Given the description of an element on the screen output the (x, y) to click on. 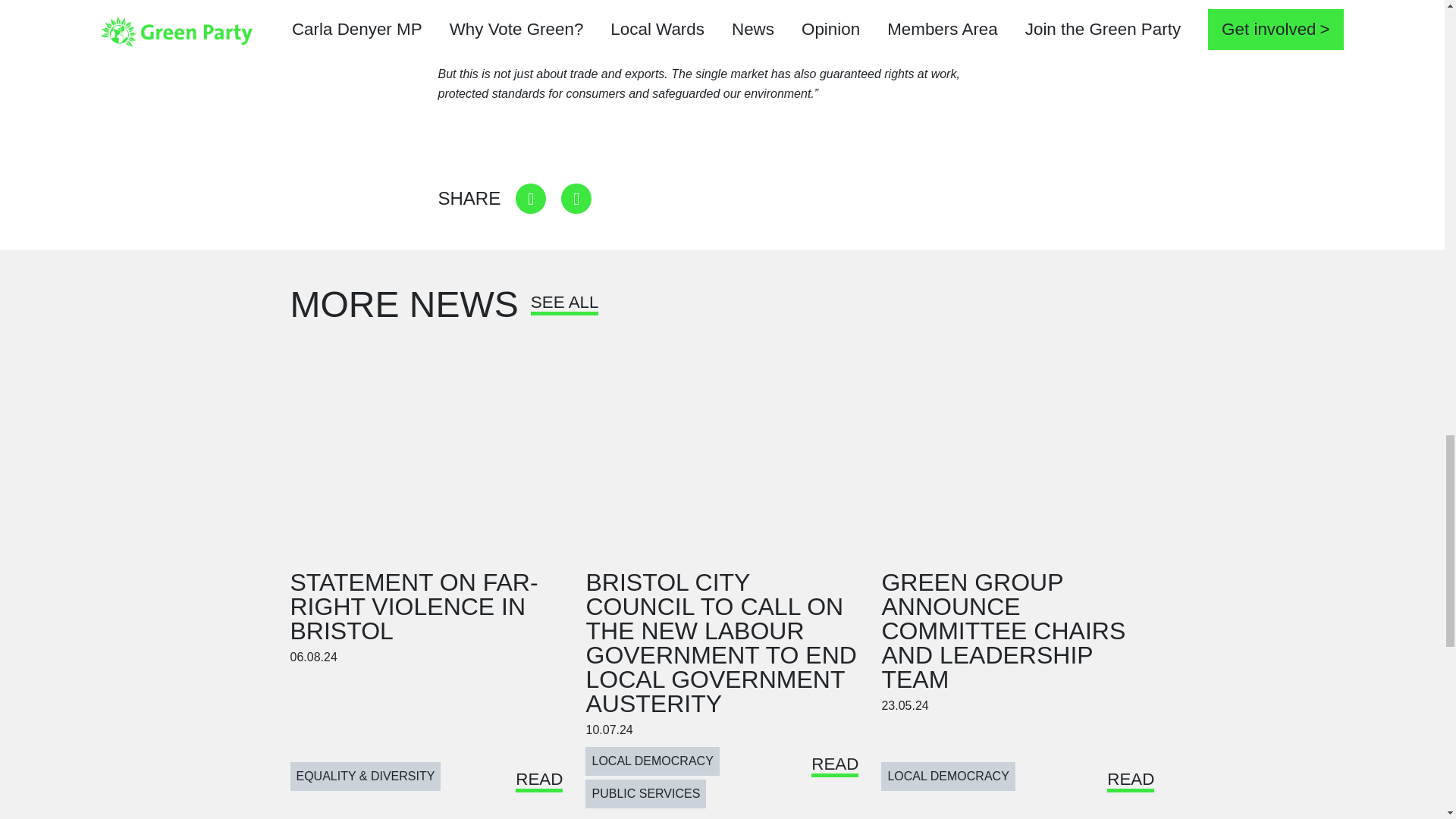
LOCAL DEMOCRACY (652, 760)
SEE ALL (564, 307)
PUBLIC SERVICES (645, 793)
LOCAL DEMOCRACY (947, 776)
